Given the description of an element on the screen output the (x, y) to click on. 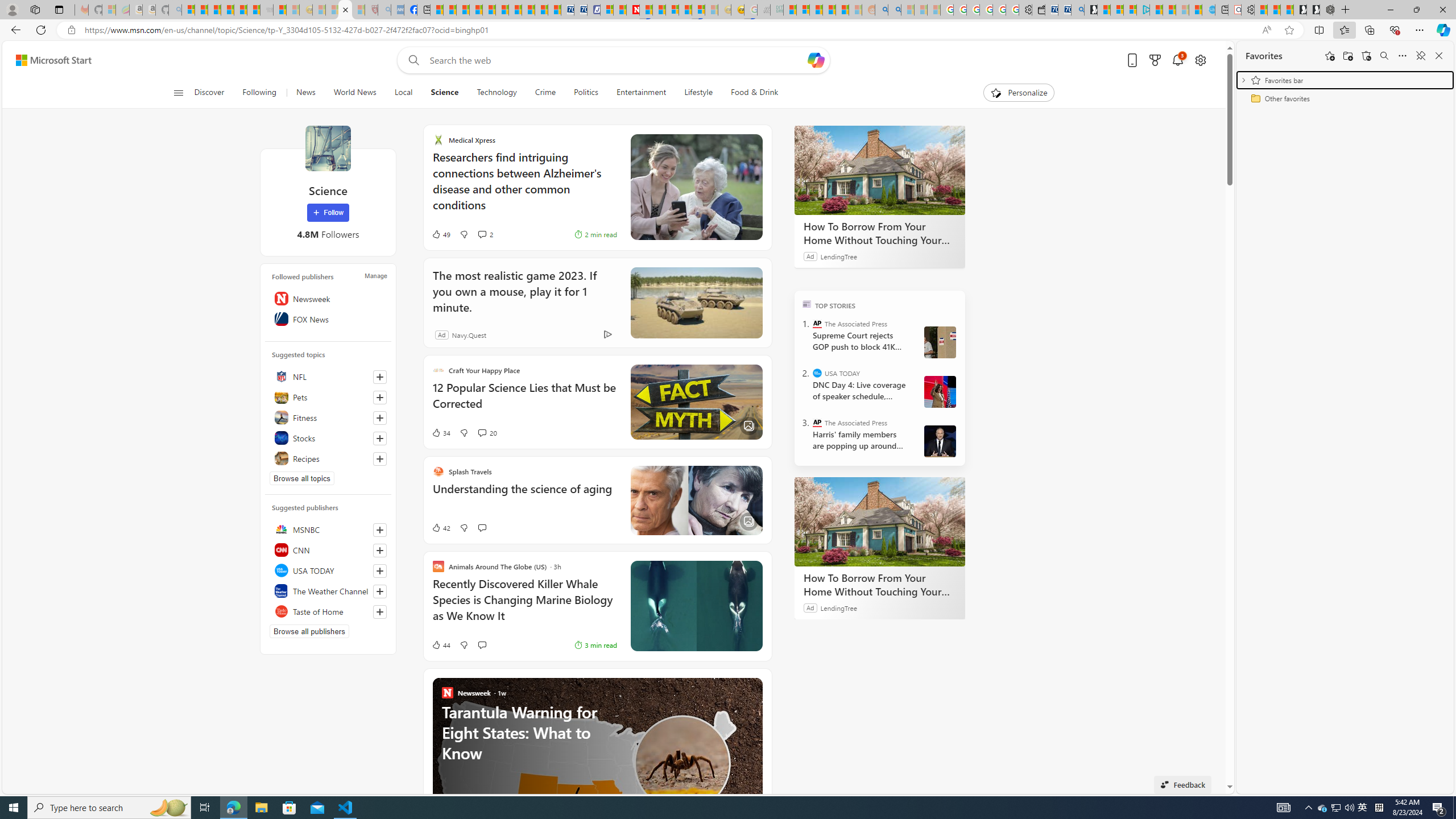
Cheap Hotels - Save70.com (580, 9)
Restore deleted favorites (1366, 55)
14 Common Myths Debunked By Scientific Facts (659, 9)
Add this page to favorites (1330, 55)
Science - MSN (344, 9)
